Given the description of an element on the screen output the (x, y) to click on. 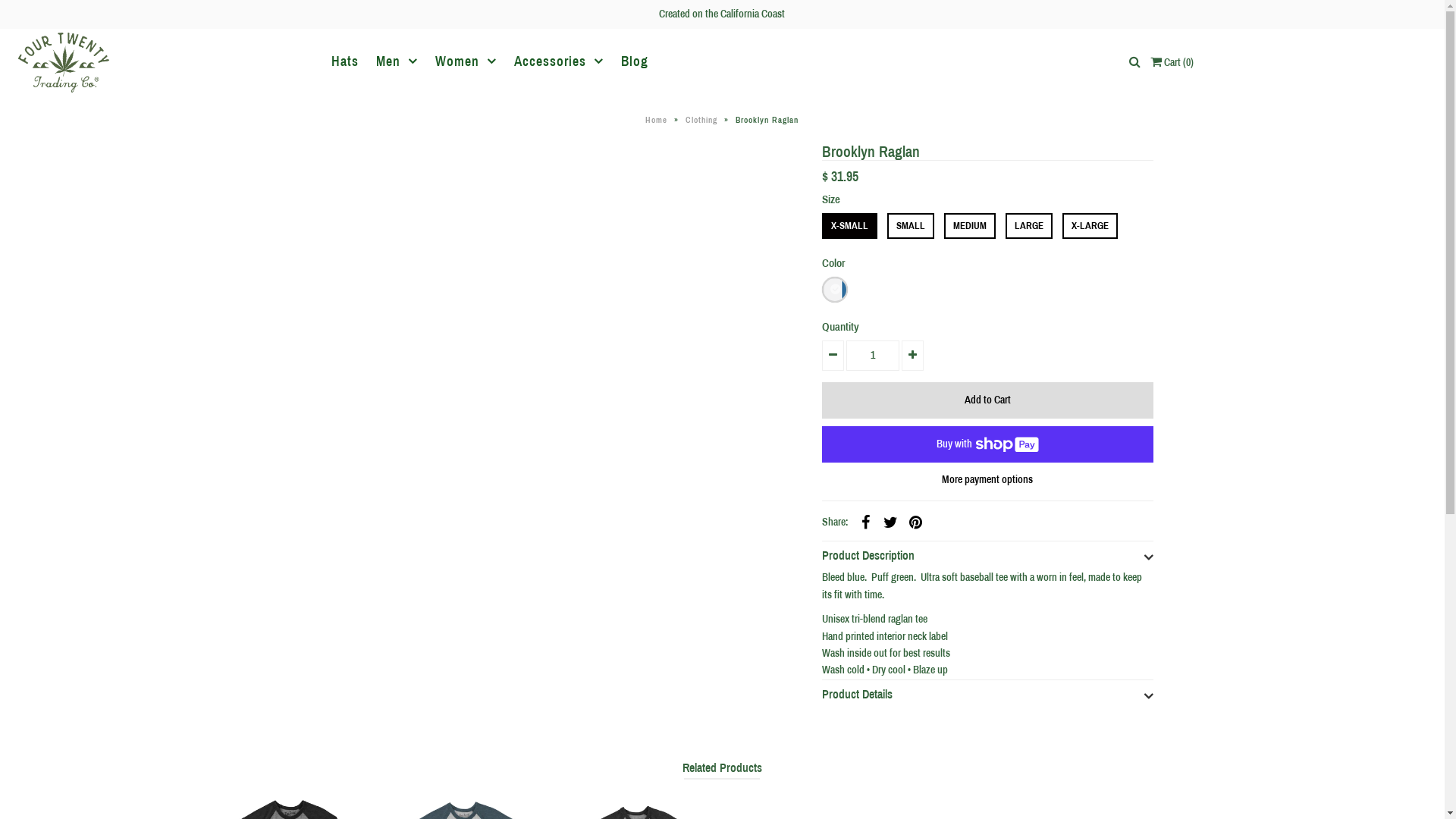
Blog Element type: text (634, 61)
Home Element type: text (658, 119)
Men Element type: text (396, 61)
Add to Cart Element type: text (988, 400)
Created on the California Coast Element type: text (721, 13)
More payment options Element type: text (988, 479)
Accessories Element type: text (558, 61)
Share on Twitter Element type: hover (890, 521)
Cart (0) Element type: text (1171, 62)
Women Element type: text (465, 61)
Clothing Element type: text (703, 119)
Share on Pinterest Element type: hover (915, 521)
Share on Facebook Element type: hover (865, 521)
Product Details Element type: text (988, 690)
Hats Element type: text (344, 61)
Product Description Element type: text (988, 551)
